Given the description of an element on the screen output the (x, y) to click on. 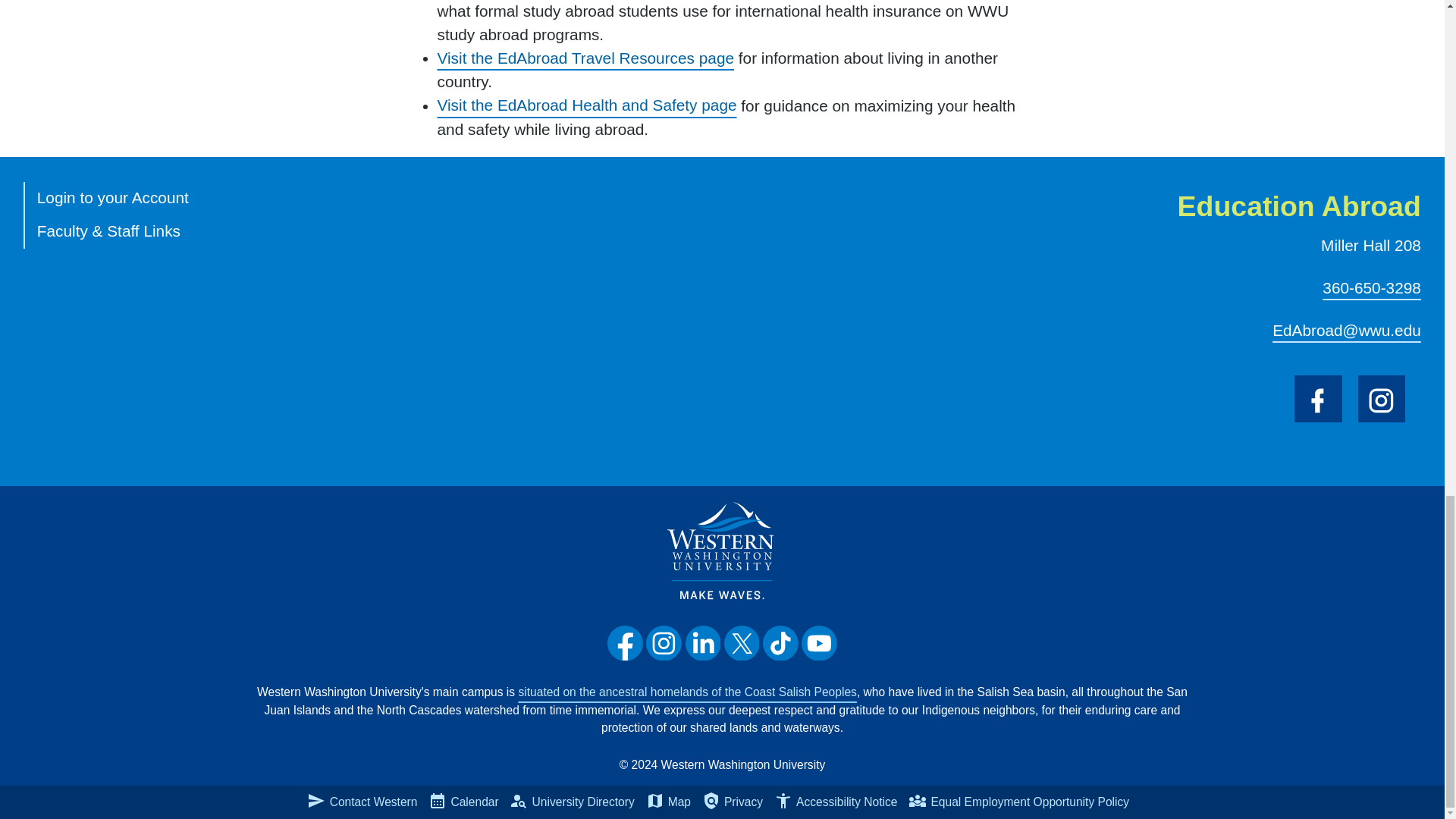
Western Logo (721, 550)
